Given the description of an element on the screen output the (x, y) to click on. 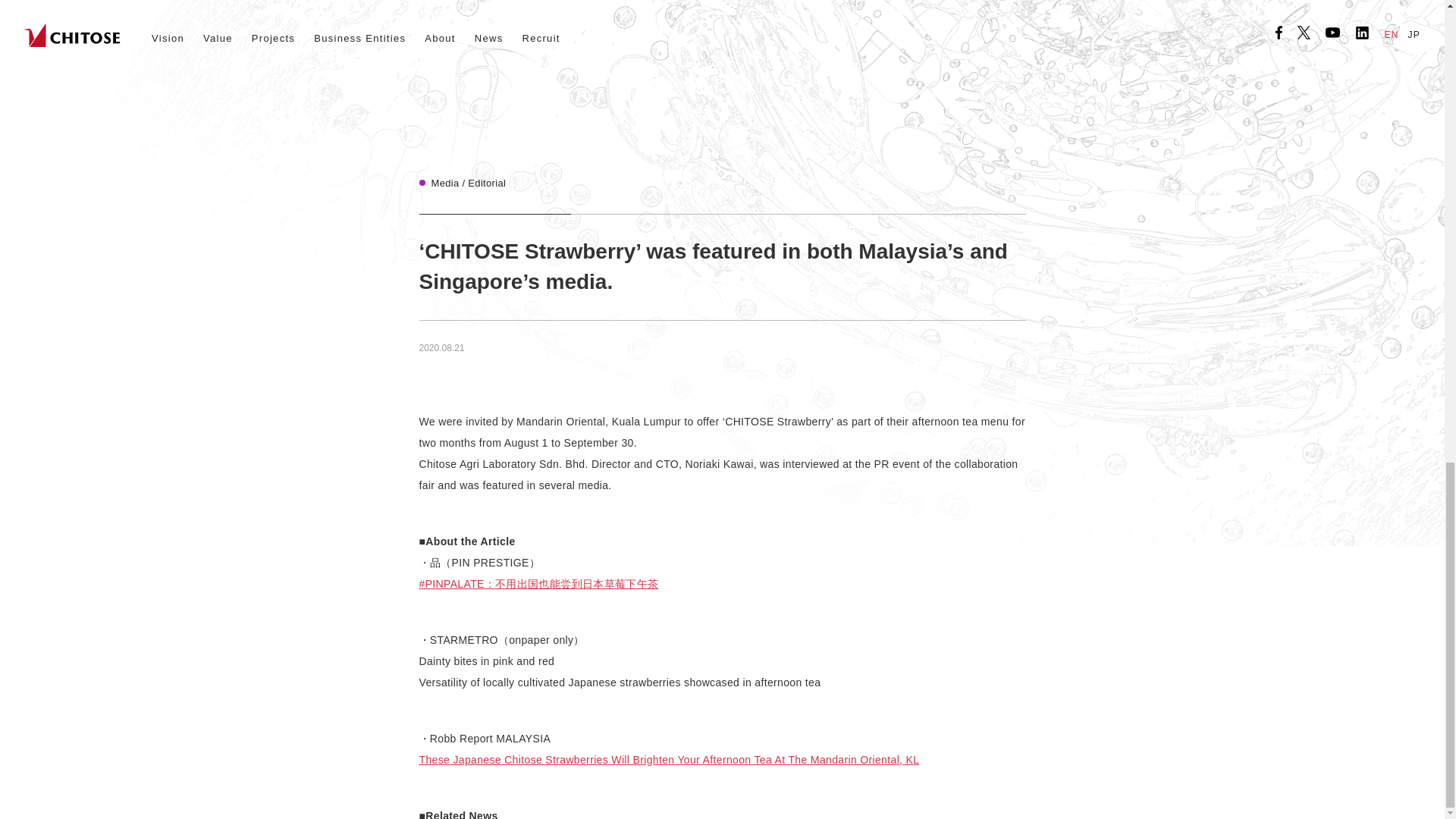
Top (513, 400)
